Given the description of an element on the screen output the (x, y) to click on. 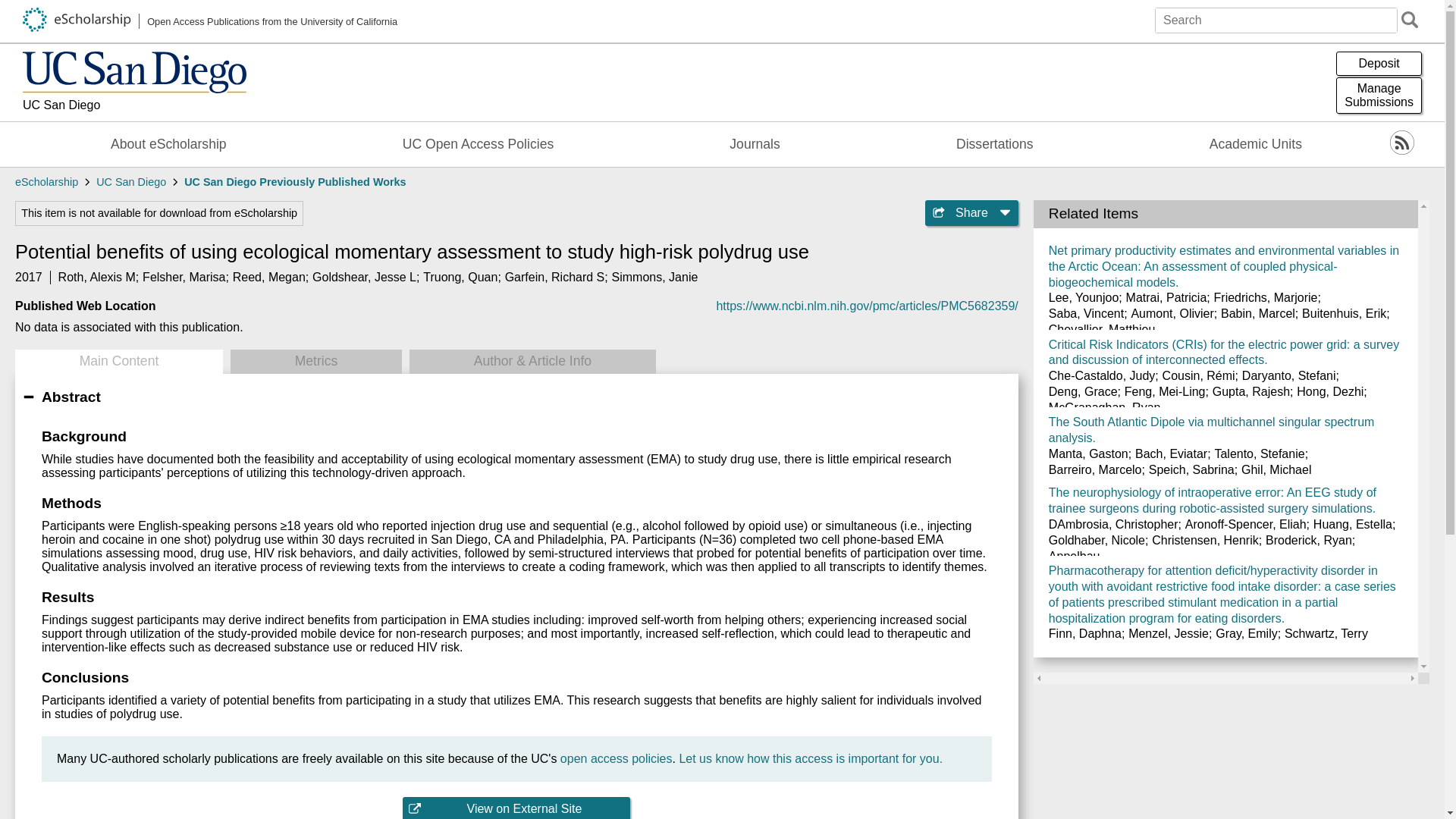
open access policies (616, 758)
UC San Diego (134, 105)
Felsher, Marisa (183, 277)
Simmons, Janie (654, 277)
About eScholarship (168, 143)
UC San Diego Previously Published Works (295, 182)
Metrics (315, 361)
Open Access Publications from the University of California (210, 21)
UC Open Access Policies (477, 143)
